Given the description of an element on the screen output the (x, y) to click on. 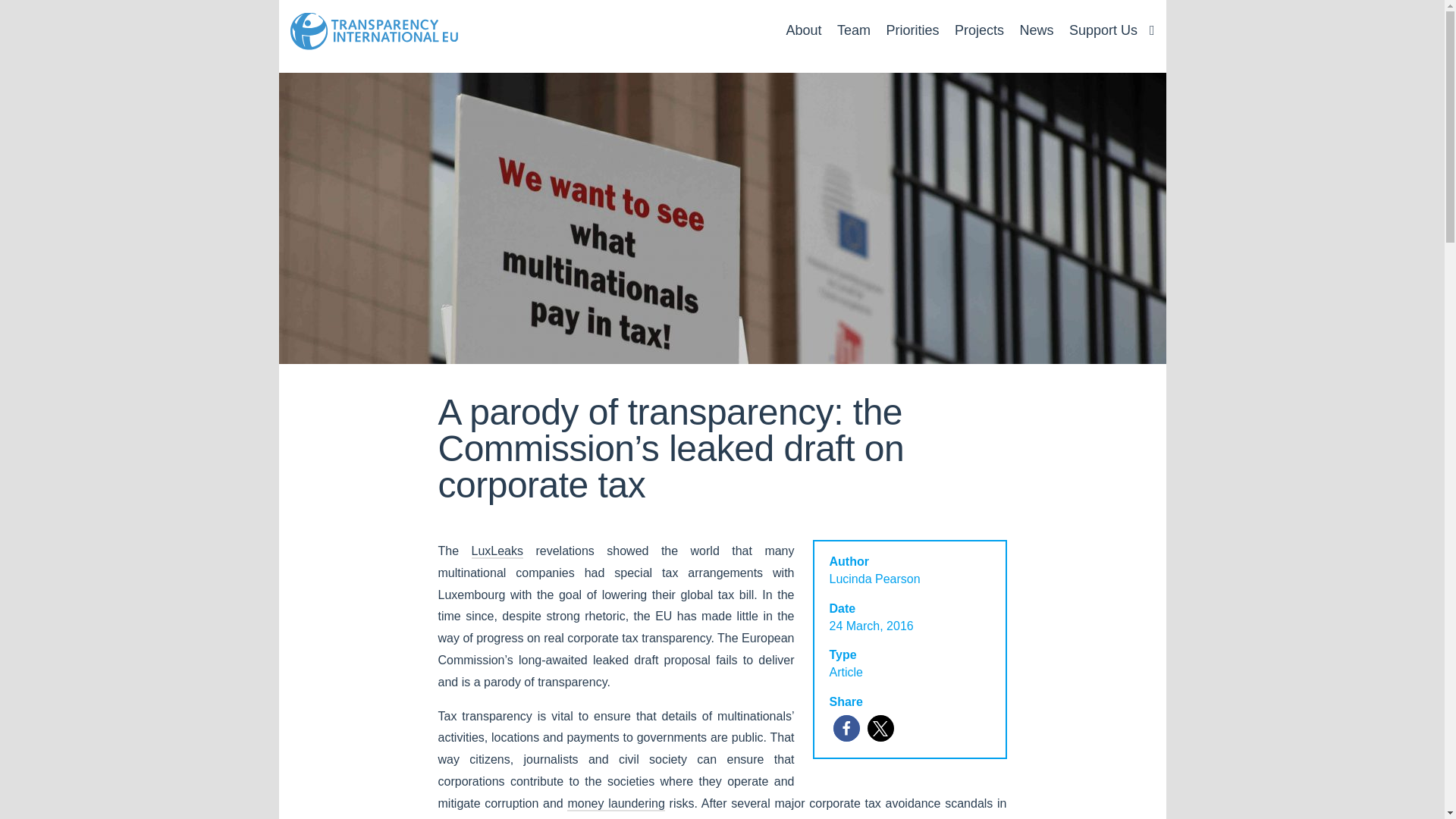
Support Us (1102, 29)
LuxLeaks (497, 551)
Priorities (912, 29)
About (803, 29)
Article (846, 671)
News (1035, 29)
money laundering (615, 803)
Projects (979, 29)
Share on X (880, 728)
Share on Facebook (845, 728)
